Given the description of an element on the screen output the (x, y) to click on. 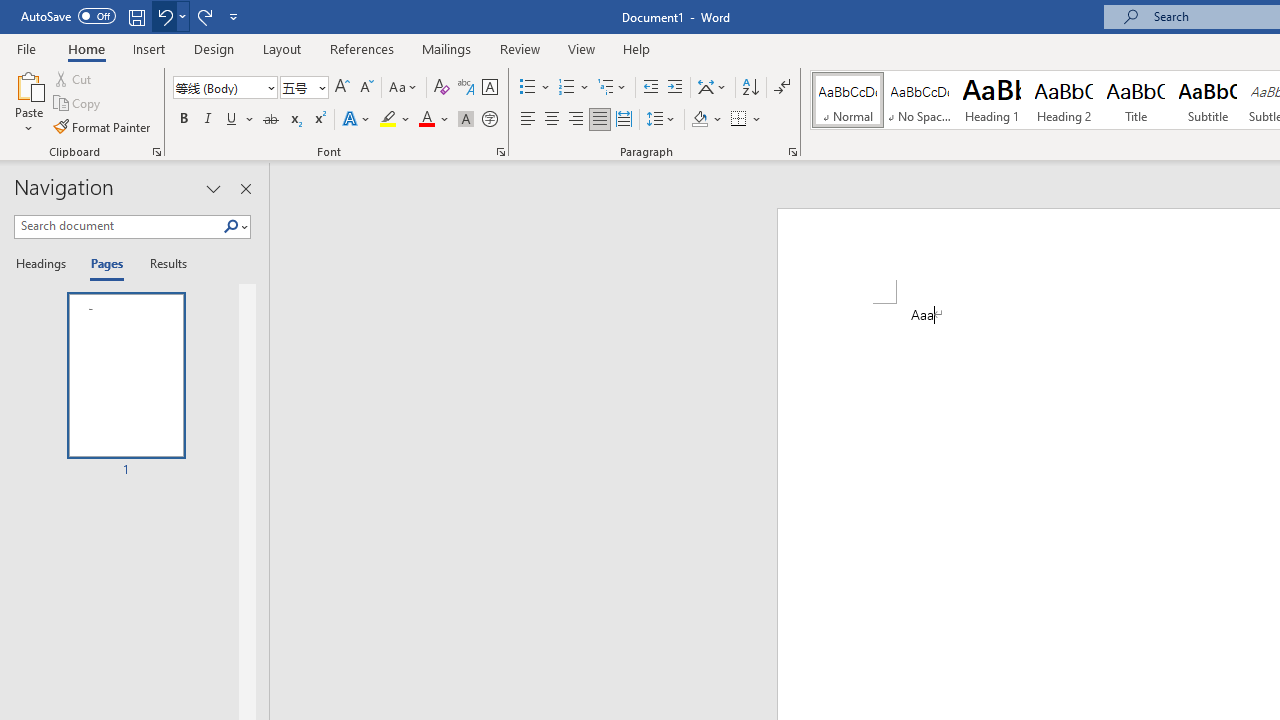
Shading (706, 119)
Cut (73, 78)
Change Case (404, 87)
Decrease Indent (650, 87)
Quick Access Toolbar (131, 16)
Font... (500, 151)
Font Color (434, 119)
Text Highlight Color (395, 119)
Insert (149, 48)
